Given the description of an element on the screen output the (x, y) to click on. 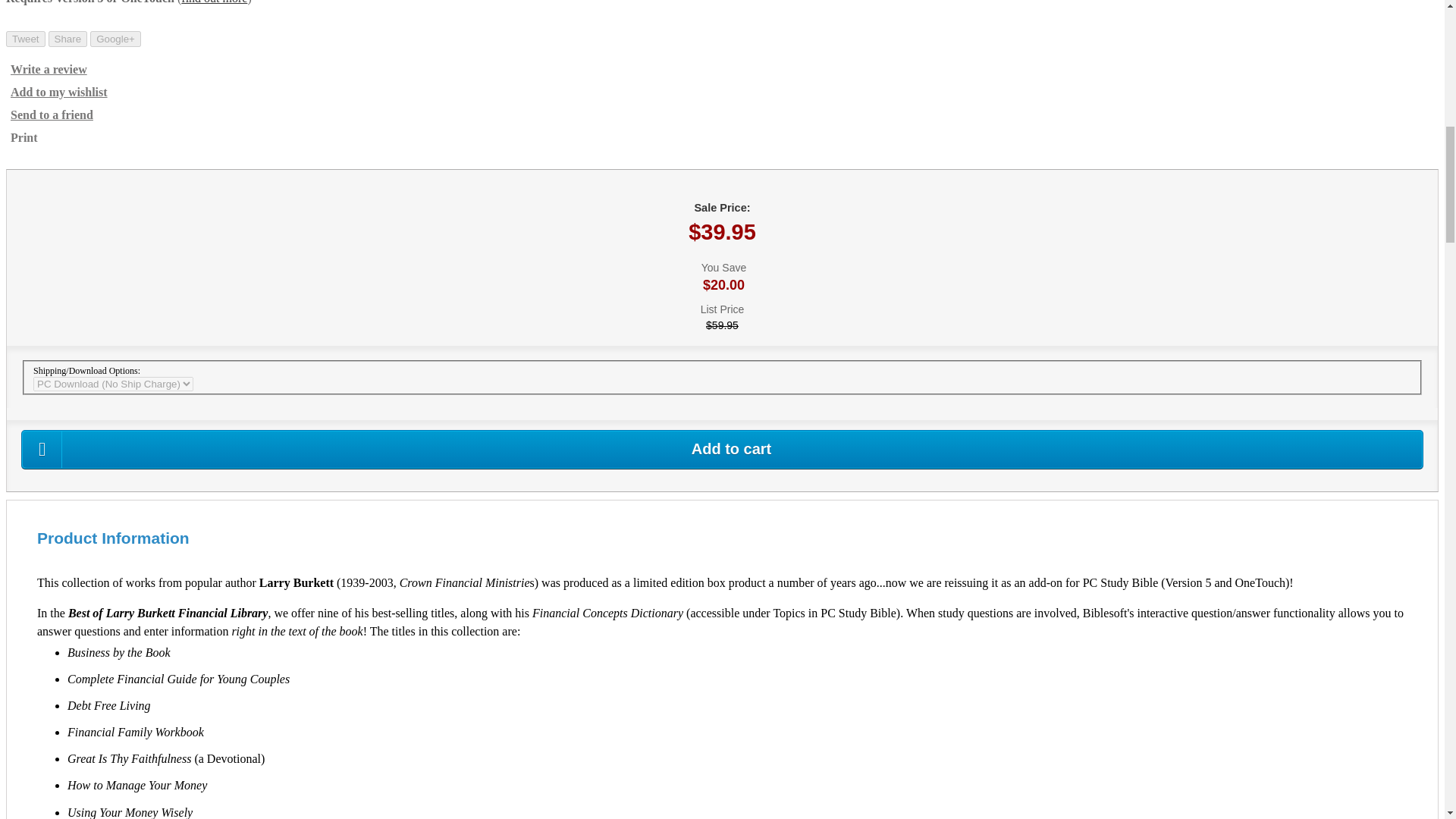
Add to my wishlist (56, 92)
Tweet (25, 38)
Write a review (46, 69)
Share (67, 38)
find out more (213, 2)
